Given the description of an element on the screen output the (x, y) to click on. 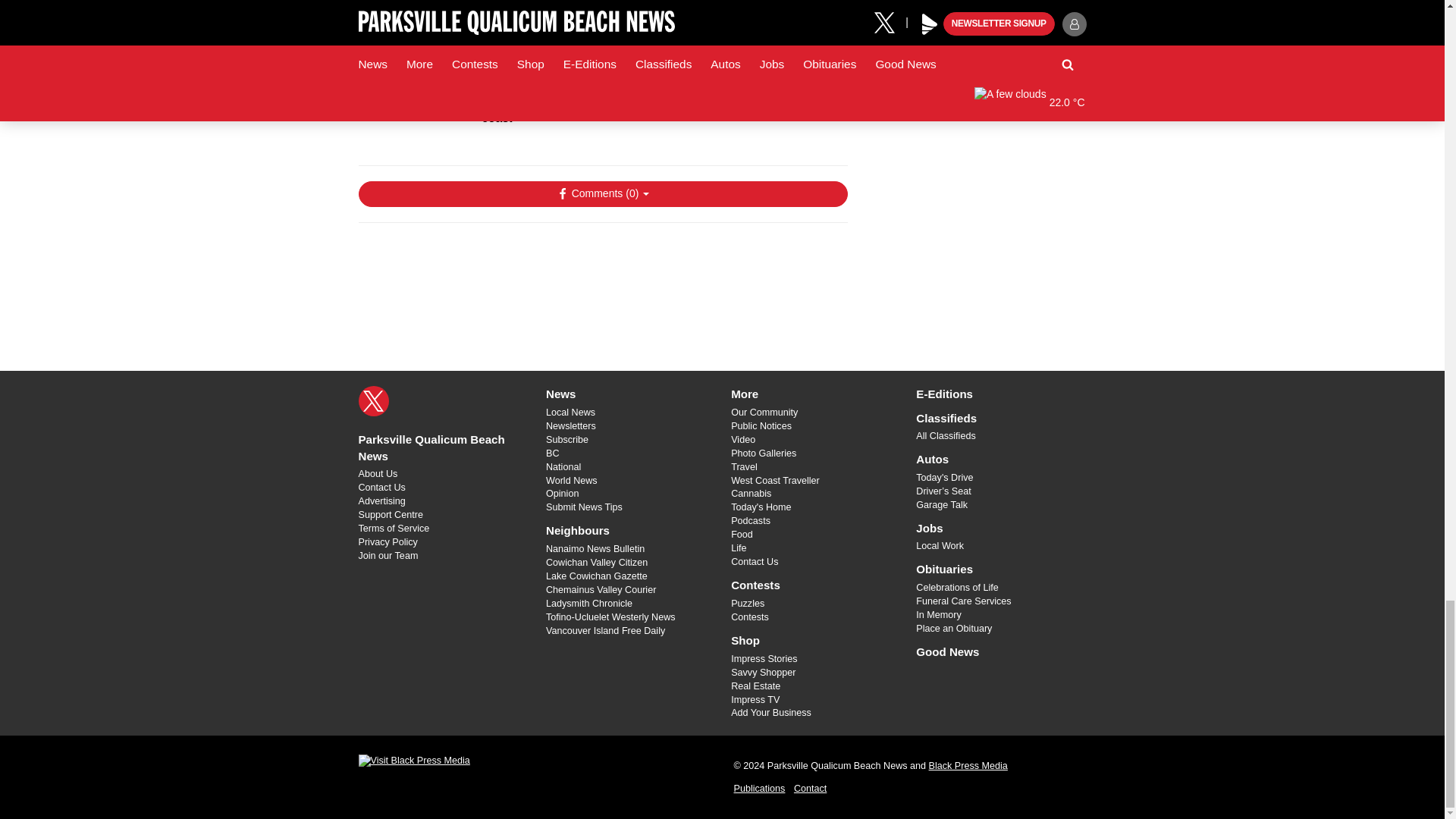
Show Comments (602, 193)
X (373, 400)
